Given the description of an element on the screen output the (x, y) to click on. 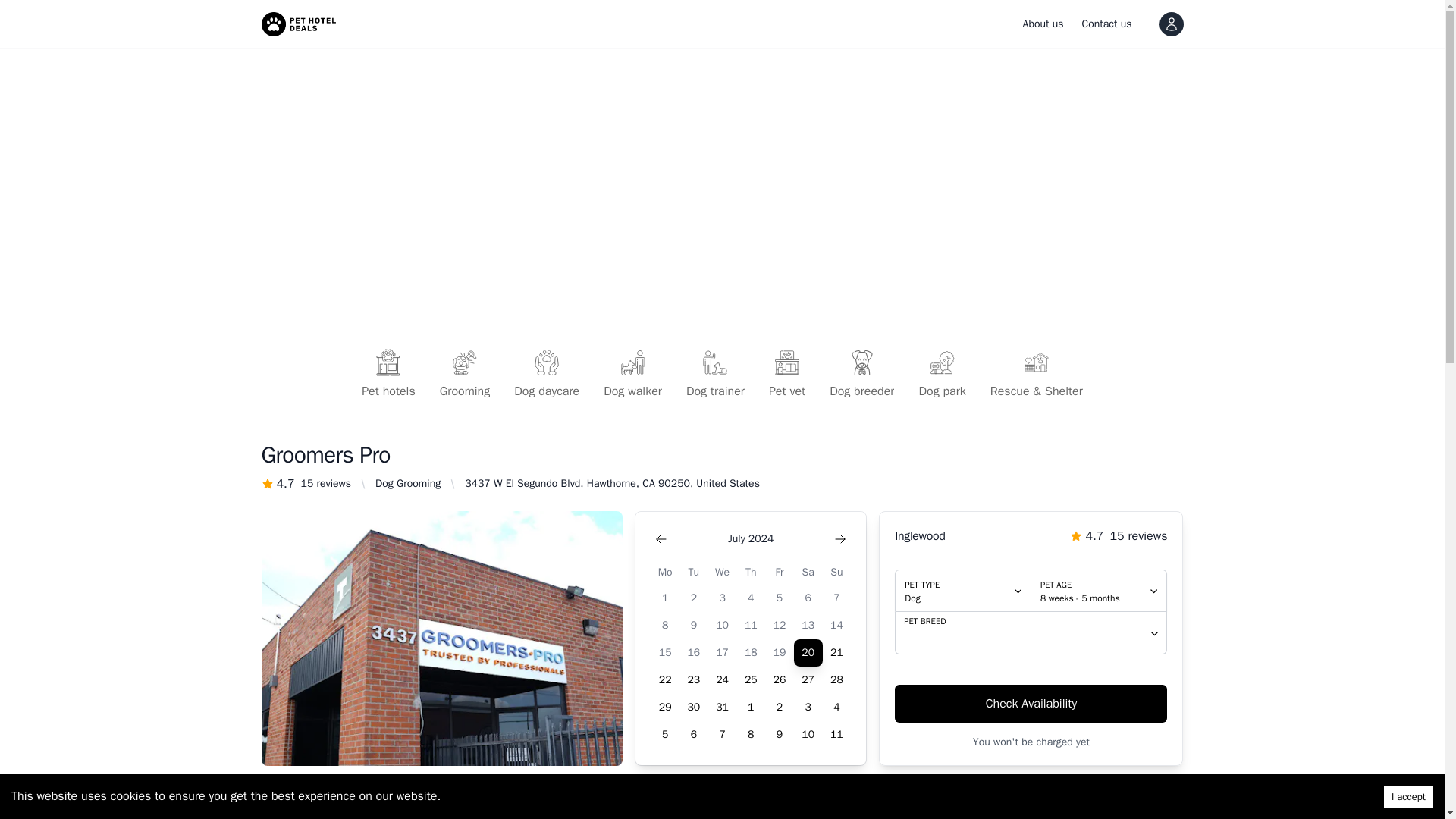
Dog breeder (860, 375)
Dog trainer (715, 375)
Dog walker (632, 375)
July 2024 (751, 539)
Check Availability (1031, 703)
Dog breeder (860, 375)
Dog park (940, 375)
Contact us (1107, 24)
go to next month (840, 539)
Dog trainer (715, 375)
View notifications (1170, 24)
Grooming (465, 375)
Advertisement (1098, 590)
